Given the description of an element on the screen output the (x, y) to click on. 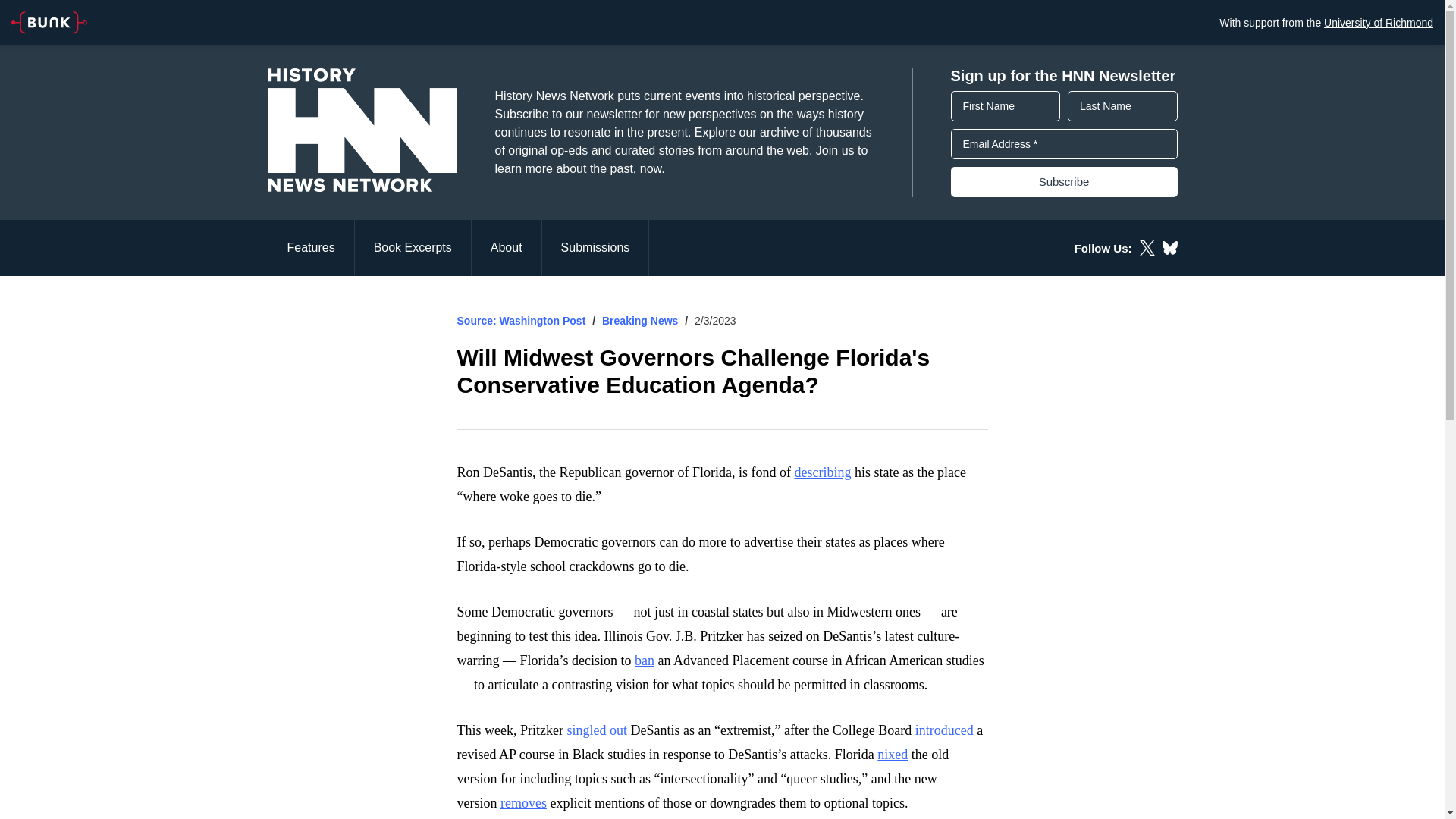
Subscribe (1063, 182)
Follow HNN on Bluesky (1168, 247)
Subscribe (1063, 182)
Submissions (595, 248)
Features (309, 248)
Follow HNN on X, formerly Twitter (1146, 247)
Book Excerpts (413, 248)
About (506, 248)
ban (643, 660)
singled out (596, 729)
describing (821, 472)
Source: Washington Post (521, 320)
introduced (944, 729)
nixed (892, 754)
University of Richmond (1377, 22)
